Given the description of an element on the screen output the (x, y) to click on. 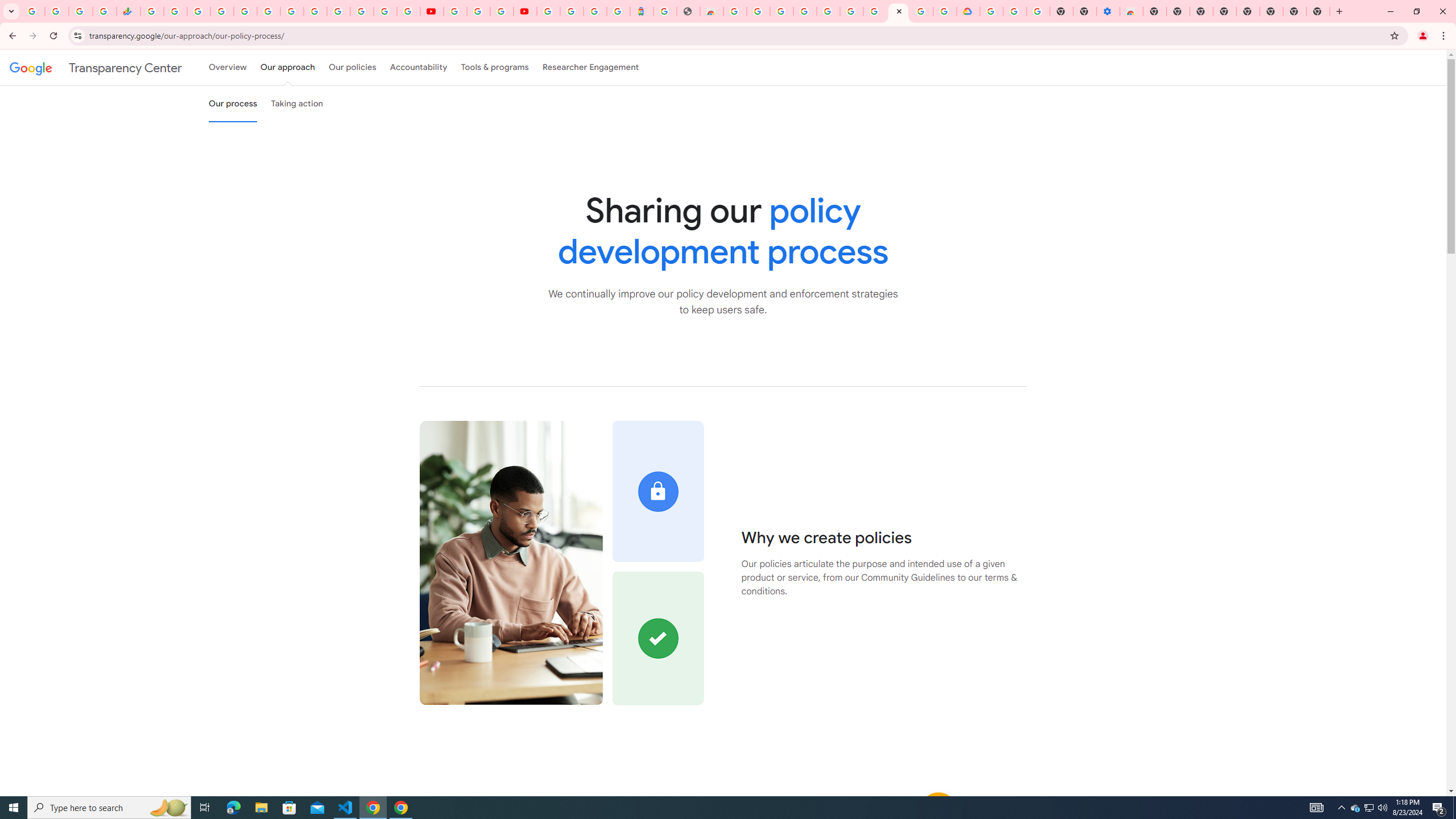
Our approach (287, 67)
Sign in - Google Accounts (221, 11)
Chrome Web Store - Household (711, 11)
Turn cookies on or off - Computer - Google Account Help (1038, 11)
YouTube (454, 11)
Create your Google Account (921, 11)
Sign in - Google Accounts (547, 11)
